Given the description of an element on the screen output the (x, y) to click on. 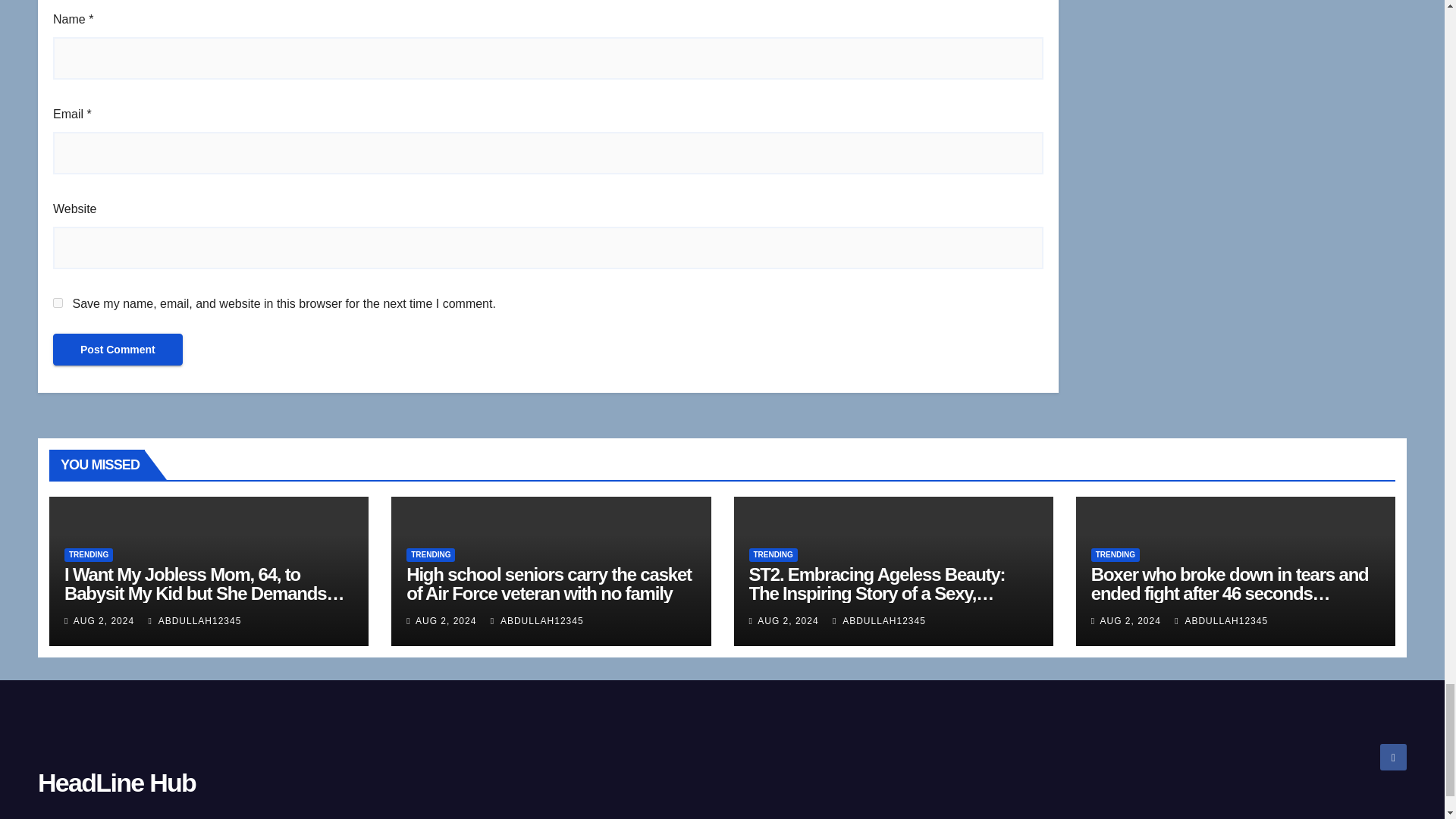
yes (57, 302)
Post Comment (117, 349)
